Given the description of an element on the screen output the (x, y) to click on. 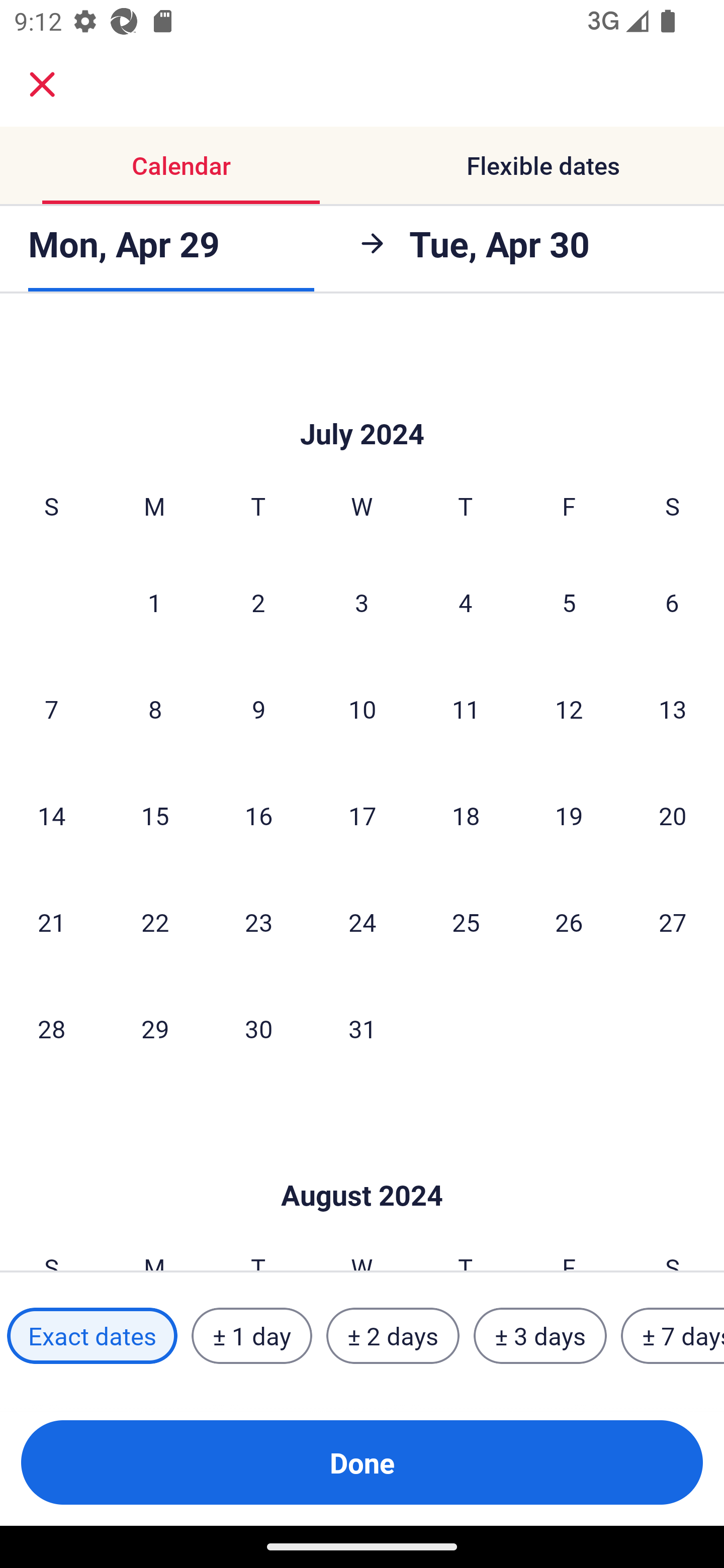
close. (42, 84)
Flexible dates (542, 164)
Skip to Done (362, 404)
1 Monday, July 1, 2024 (154, 601)
2 Tuesday, July 2, 2024 (257, 601)
3 Wednesday, July 3, 2024 (361, 601)
4 Thursday, July 4, 2024 (465, 601)
5 Friday, July 5, 2024 (568, 601)
6 Saturday, July 6, 2024 (672, 601)
7 Sunday, July 7, 2024 (51, 708)
8 Monday, July 8, 2024 (155, 708)
9 Tuesday, July 9, 2024 (258, 708)
10 Wednesday, July 10, 2024 (362, 708)
11 Thursday, July 11, 2024 (465, 708)
12 Friday, July 12, 2024 (569, 708)
13 Saturday, July 13, 2024 (672, 708)
14 Sunday, July 14, 2024 (51, 815)
15 Monday, July 15, 2024 (155, 815)
16 Tuesday, July 16, 2024 (258, 815)
17 Wednesday, July 17, 2024 (362, 815)
18 Thursday, July 18, 2024 (465, 815)
19 Friday, July 19, 2024 (569, 815)
20 Saturday, July 20, 2024 (672, 815)
21 Sunday, July 21, 2024 (51, 921)
22 Monday, July 22, 2024 (155, 921)
23 Tuesday, July 23, 2024 (258, 921)
24 Wednesday, July 24, 2024 (362, 921)
25 Thursday, July 25, 2024 (465, 921)
26 Friday, July 26, 2024 (569, 921)
27 Saturday, July 27, 2024 (672, 921)
28 Sunday, July 28, 2024 (51, 1028)
29 Monday, July 29, 2024 (155, 1028)
30 Tuesday, July 30, 2024 (258, 1028)
31 Wednesday, July 31, 2024 (362, 1028)
Skip to Done (362, 1164)
Exact dates (92, 1335)
± 1 day (251, 1335)
± 2 days (392, 1335)
± 3 days (539, 1335)
± 7 days (672, 1335)
Done (361, 1462)
